Given the description of an element on the screen output the (x, y) to click on. 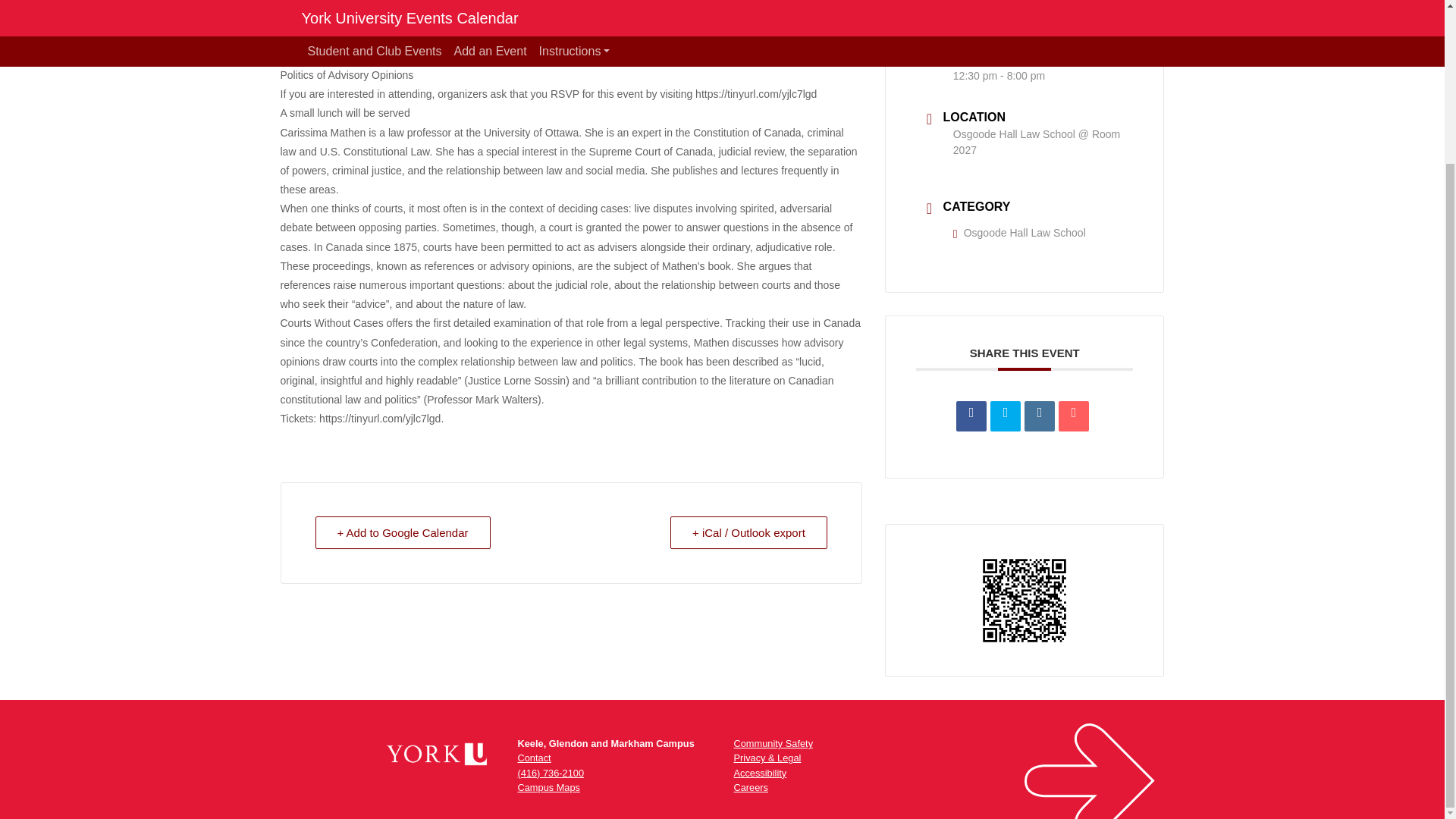
Email (1073, 416)
Careers (750, 787)
Contact (533, 757)
Accessibility (760, 772)
Linkedin (1039, 416)
Tweet (1005, 416)
Share on Facebook (971, 416)
Community Safety (773, 743)
Campus Maps (547, 787)
Osgoode Hall Law School (1019, 232)
